Given the description of an element on the screen output the (x, y) to click on. 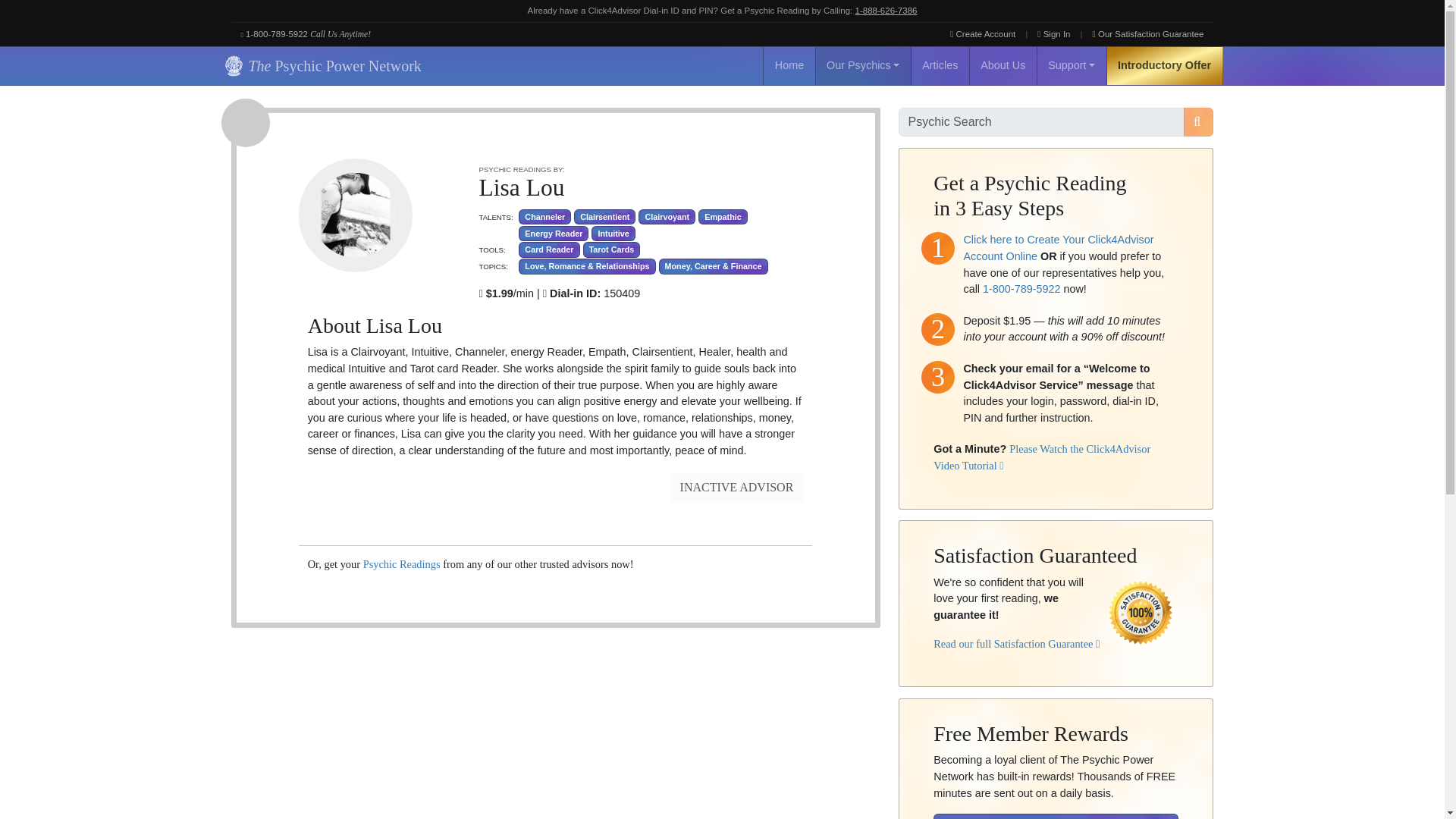
Empathic (723, 216)
Our Psychics (863, 65)
Psychic Readings (401, 563)
Intuitive (612, 233)
Home (788, 65)
Clairvoyant (667, 216)
Articles (940, 65)
Card Reader (548, 249)
Energy Reader (553, 233)
Introductory Offer (1164, 65)
Home (788, 65)
The Psychic Power Network (320, 65)
Clairsentient (603, 216)
About Us (1002, 65)
Support (1071, 65)
